Given the description of an element on the screen output the (x, y) to click on. 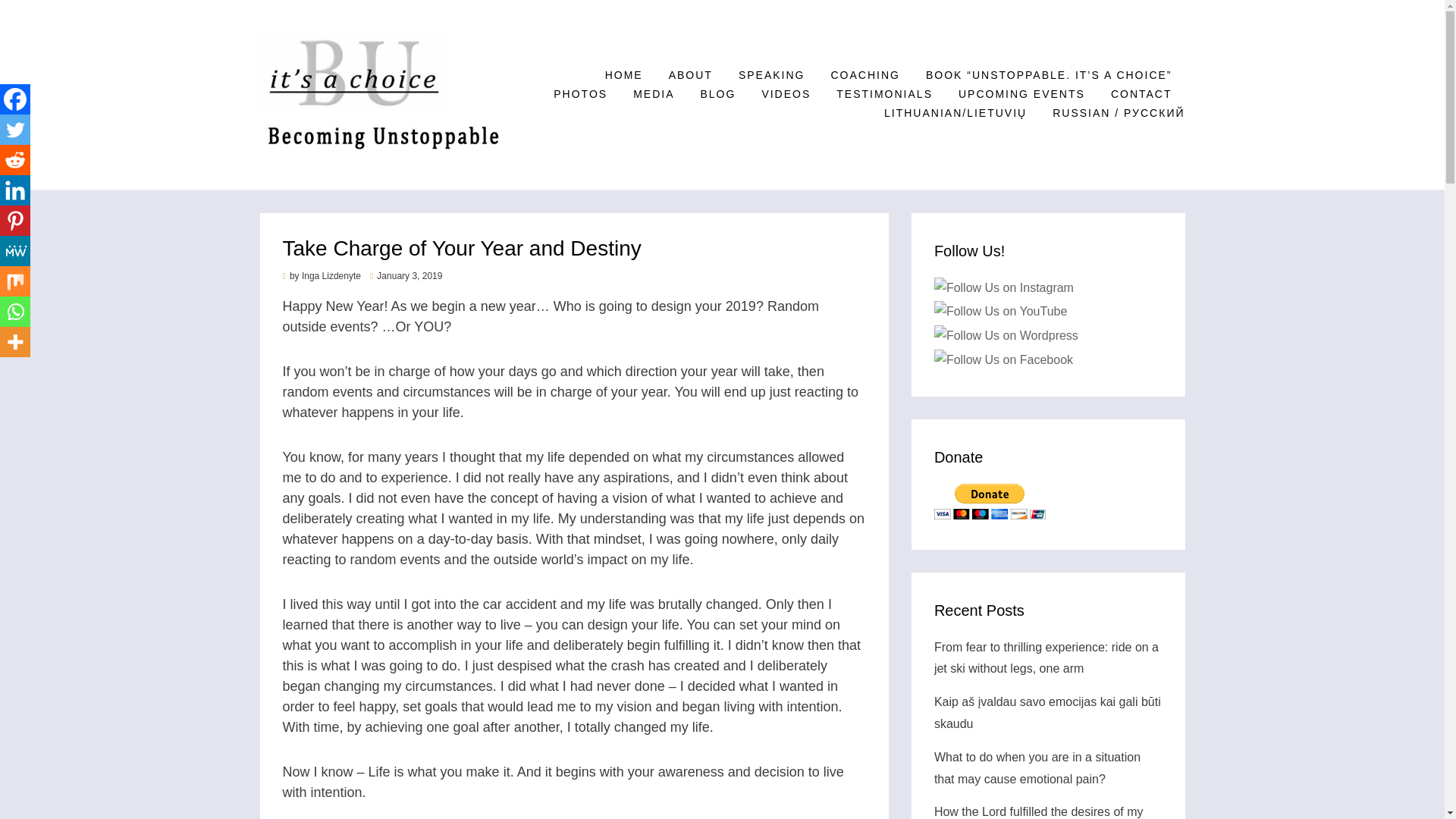
VIDEOS (786, 94)
Facebook (15, 99)
TESTIMONIALS (884, 94)
UPCOMING EVENTS (1020, 94)
Linkedin (15, 190)
SPEAKING (771, 75)
ABOUT (690, 75)
CONTACT (1141, 94)
MEDIA (653, 94)
PHOTOS (580, 94)
Pinterest (15, 220)
COACHING (864, 75)
Twitter (15, 129)
BLOG (717, 94)
Reddit (15, 159)
